Given the description of an element on the screen output the (x, y) to click on. 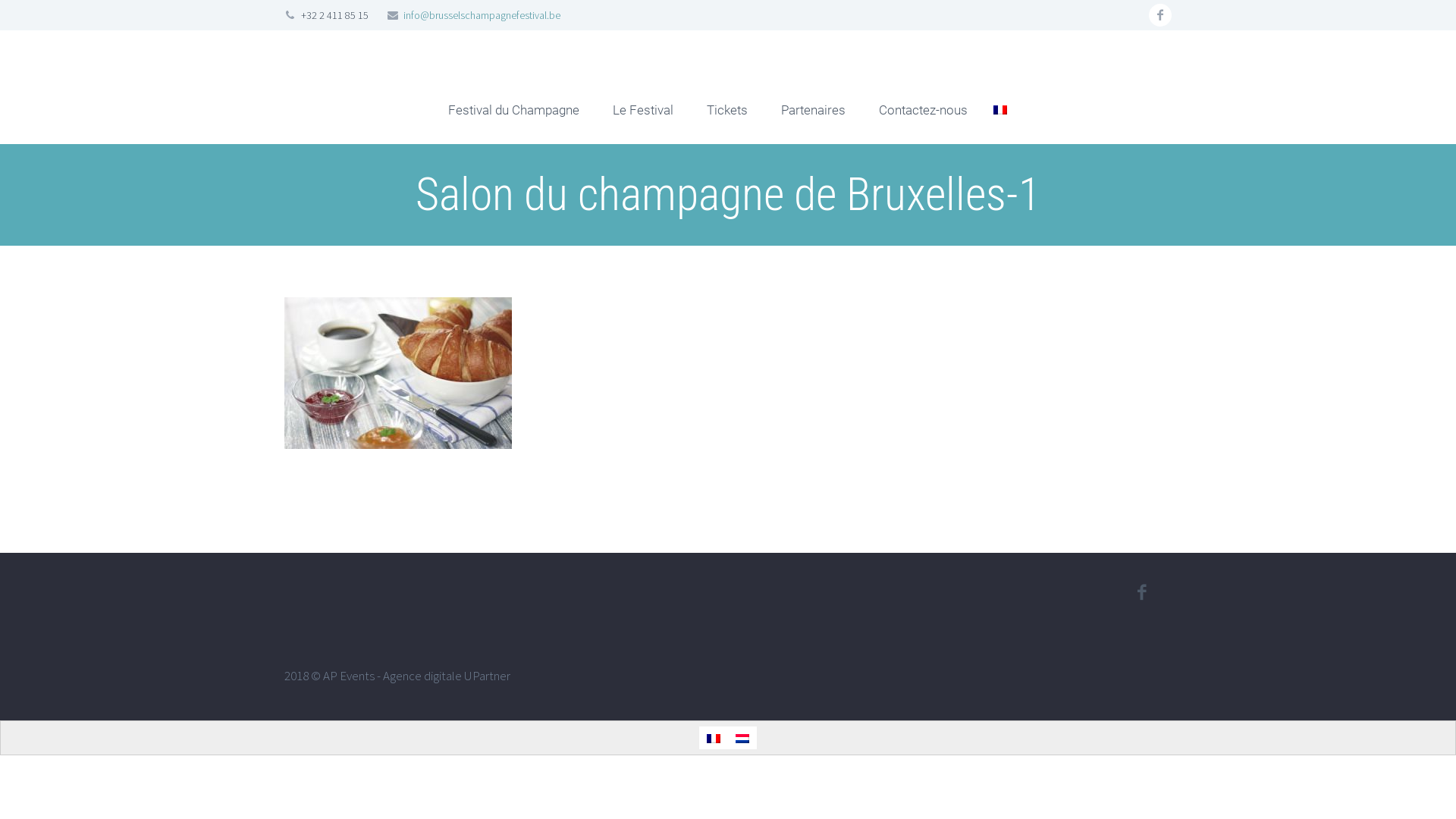
Tickets Element type: text (726, 109)
facebook Element type: text (1159, 14)
Festival du Champagne Element type: text (513, 109)
Partenaires Element type: text (812, 109)
Contactez-nous Element type: text (922, 109)
Le Festival Element type: text (642, 109)
facebook Element type: text (1140, 592)
info@brusselschampagnefestival.be Element type: text (481, 14)
